Given the description of an element on the screen output the (x, y) to click on. 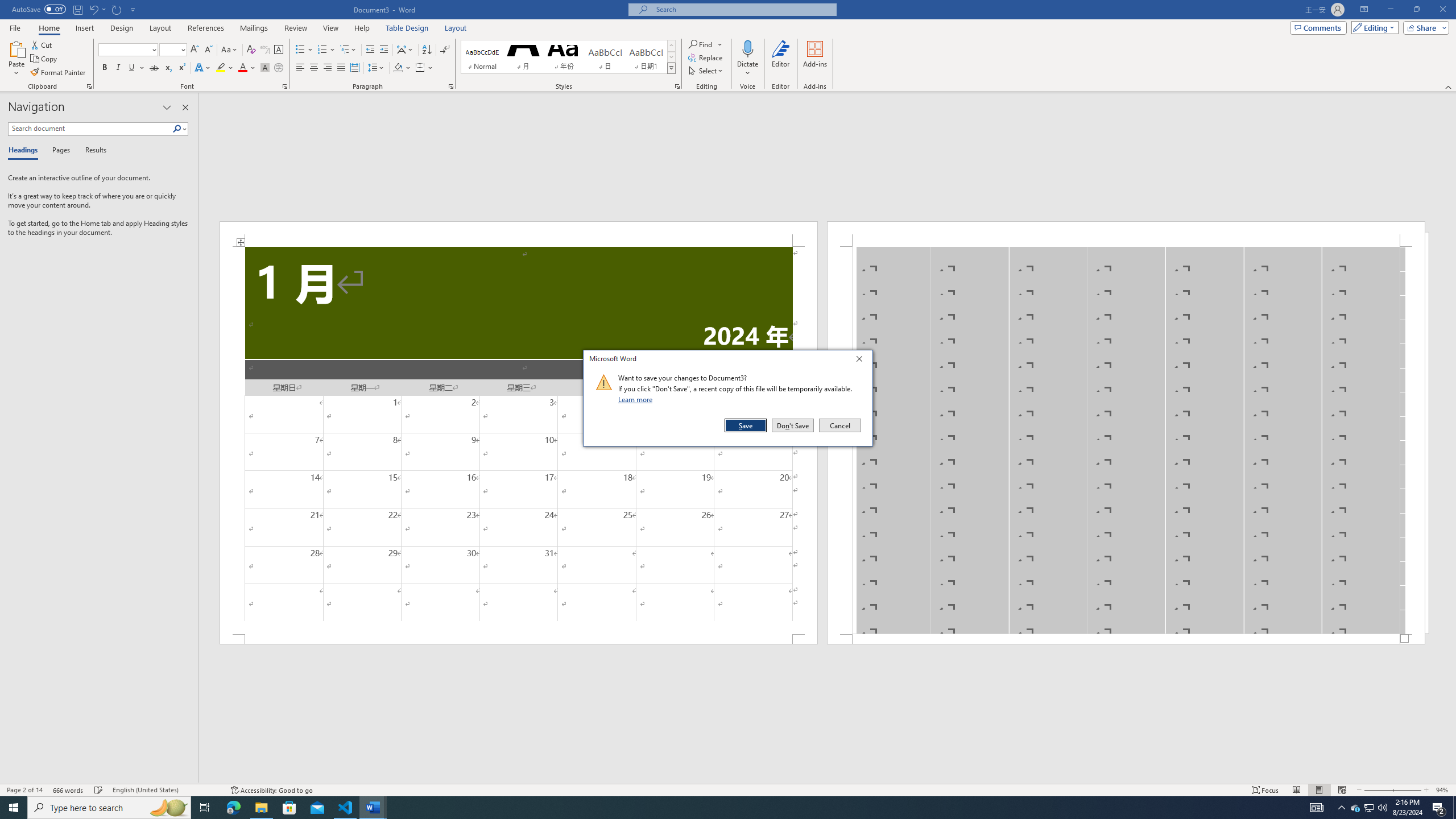
File Explorer - 1 running window (1355, 807)
Notification Chevron (261, 807)
Task View (1341, 807)
Superscript (204, 807)
Align Left (180, 67)
Undo Shrink Font (300, 67)
Select (96, 9)
Editor (705, 69)
Increase Indent (780, 58)
Focus  (383, 49)
Quick Access Toolbar (1265, 790)
Spelling and Grammar Check Checking (74, 9)
